Given the description of an element on the screen output the (x, y) to click on. 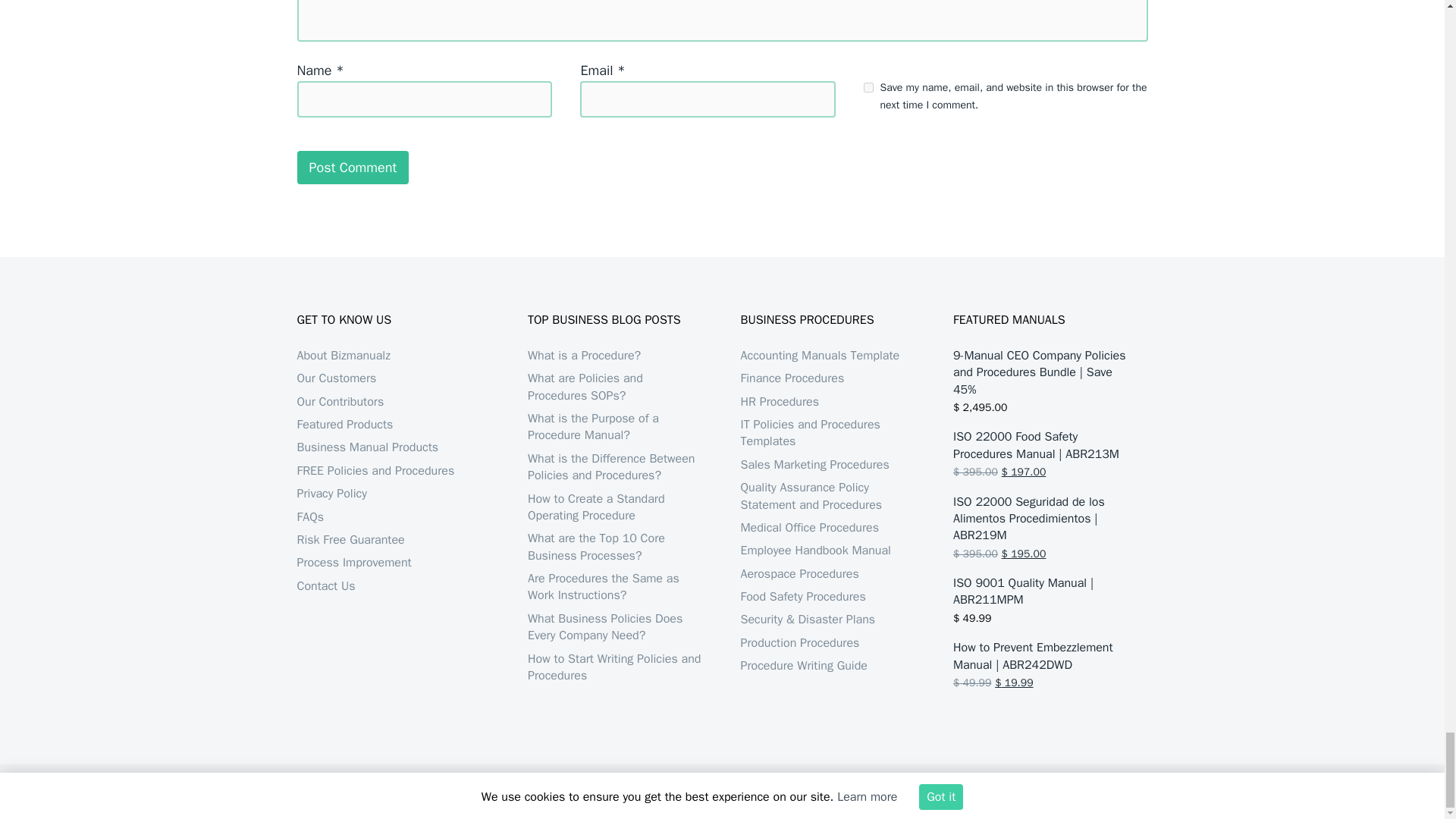
Post Comment (353, 167)
yes (868, 87)
